Given the description of an element on the screen output the (x, y) to click on. 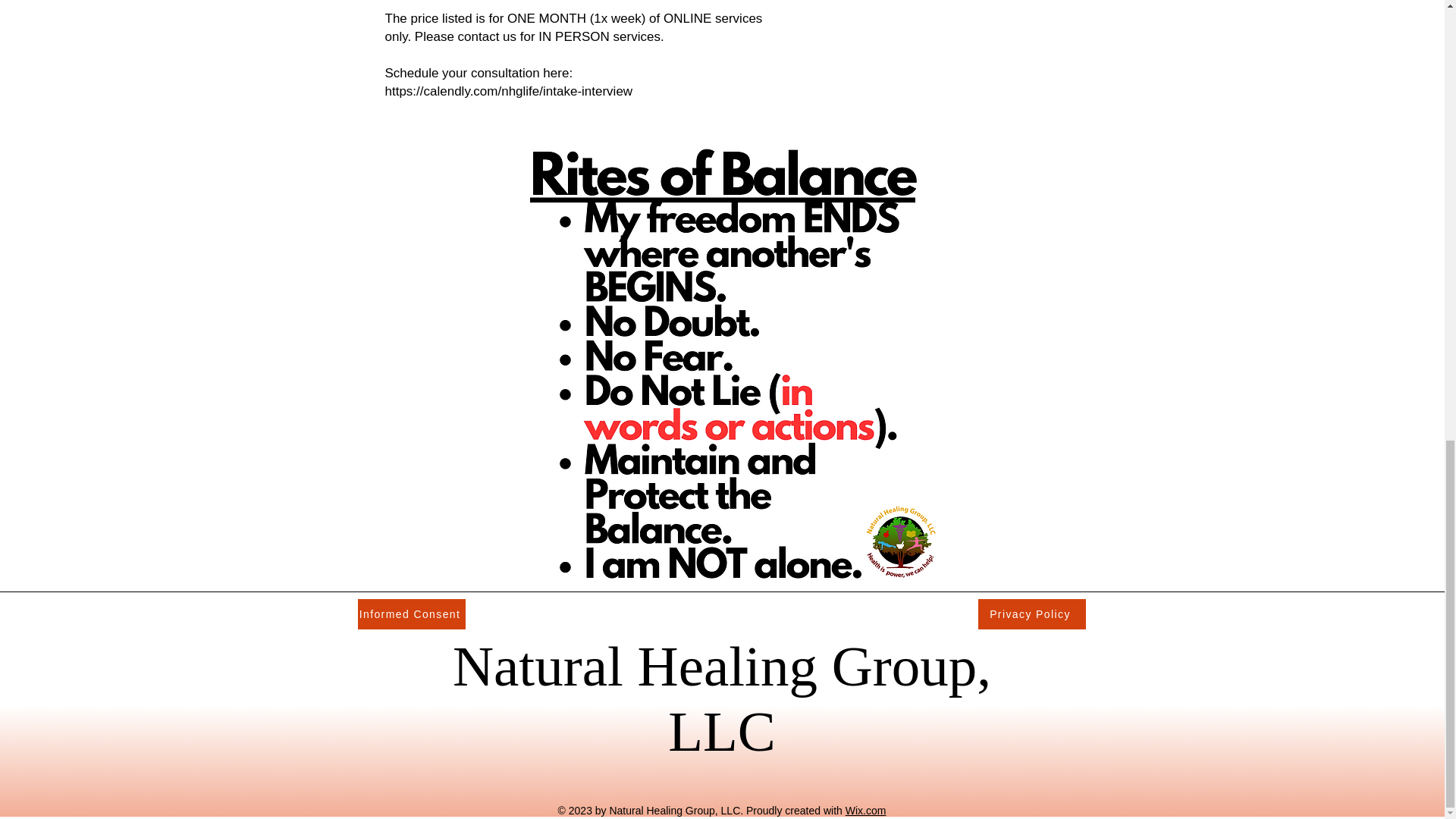
Informed Consent (411, 613)
Natural Healing Group, LLC (721, 698)
Privacy Policy (1032, 613)
Wix.com (865, 810)
